Given the description of an element on the screen output the (x, y) to click on. 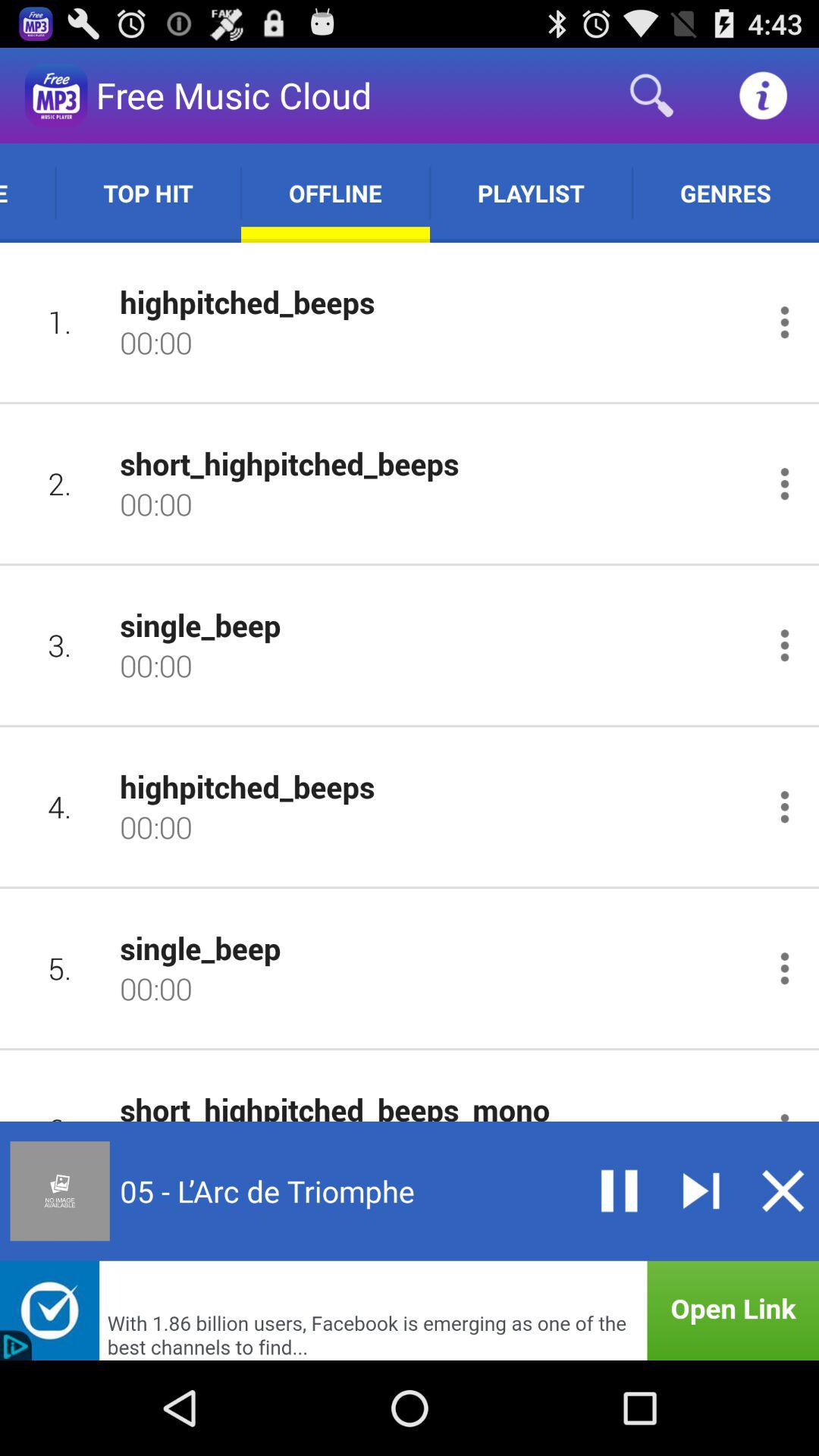
toggle options menu (784, 645)
